Given the description of an element on the screen output the (x, y) to click on. 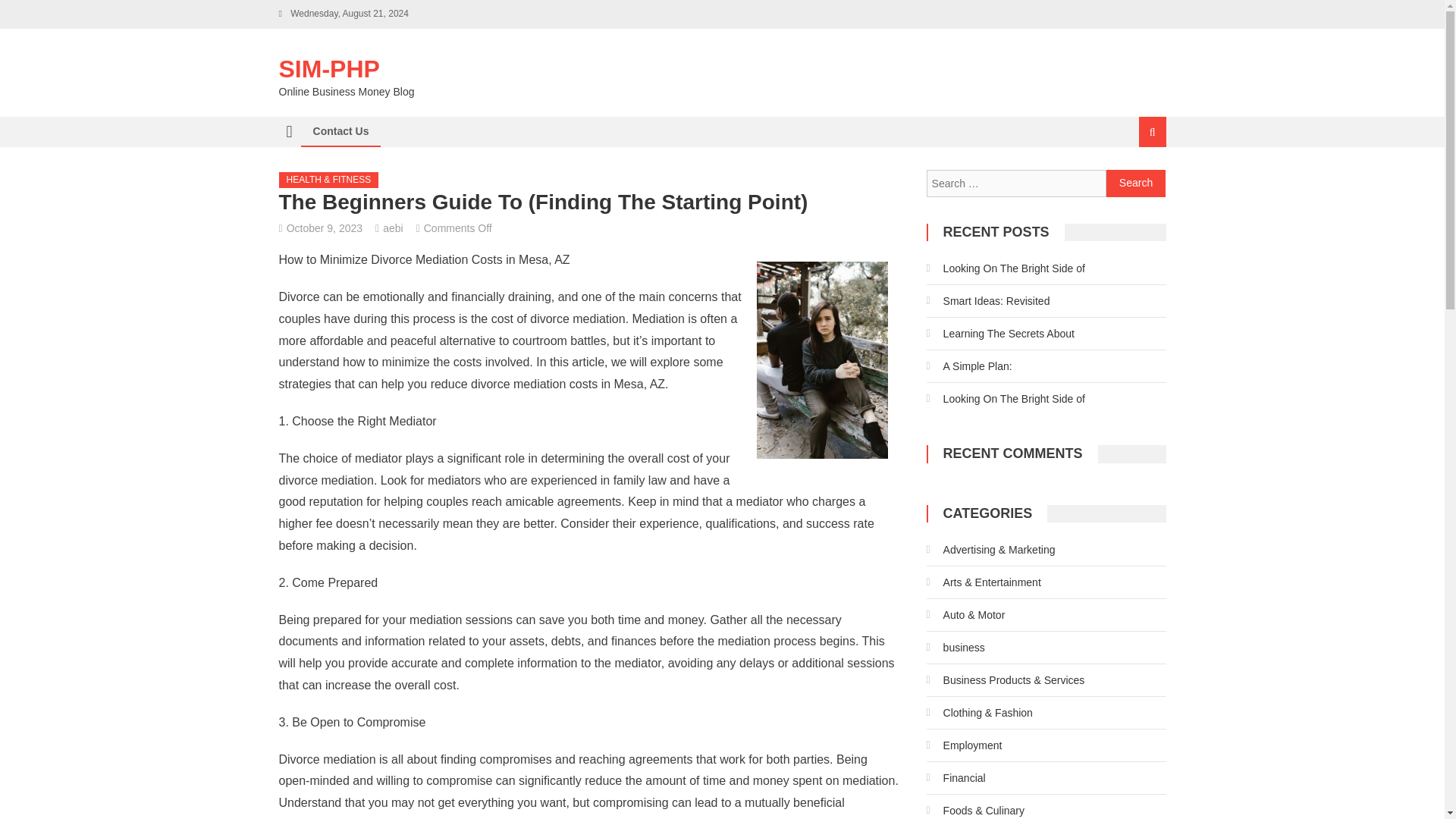
Looking On The Bright Side of (1005, 268)
Looking On The Bright Side of (1005, 398)
Learning The Secrets About (1000, 333)
Search (1136, 183)
October 9, 2023 (324, 227)
Search (1133, 182)
Smart Ideas: Revisited (987, 300)
aebi (392, 227)
Search (1136, 183)
A Simple Plan: (968, 365)
